Given the description of an element on the screen output the (x, y) to click on. 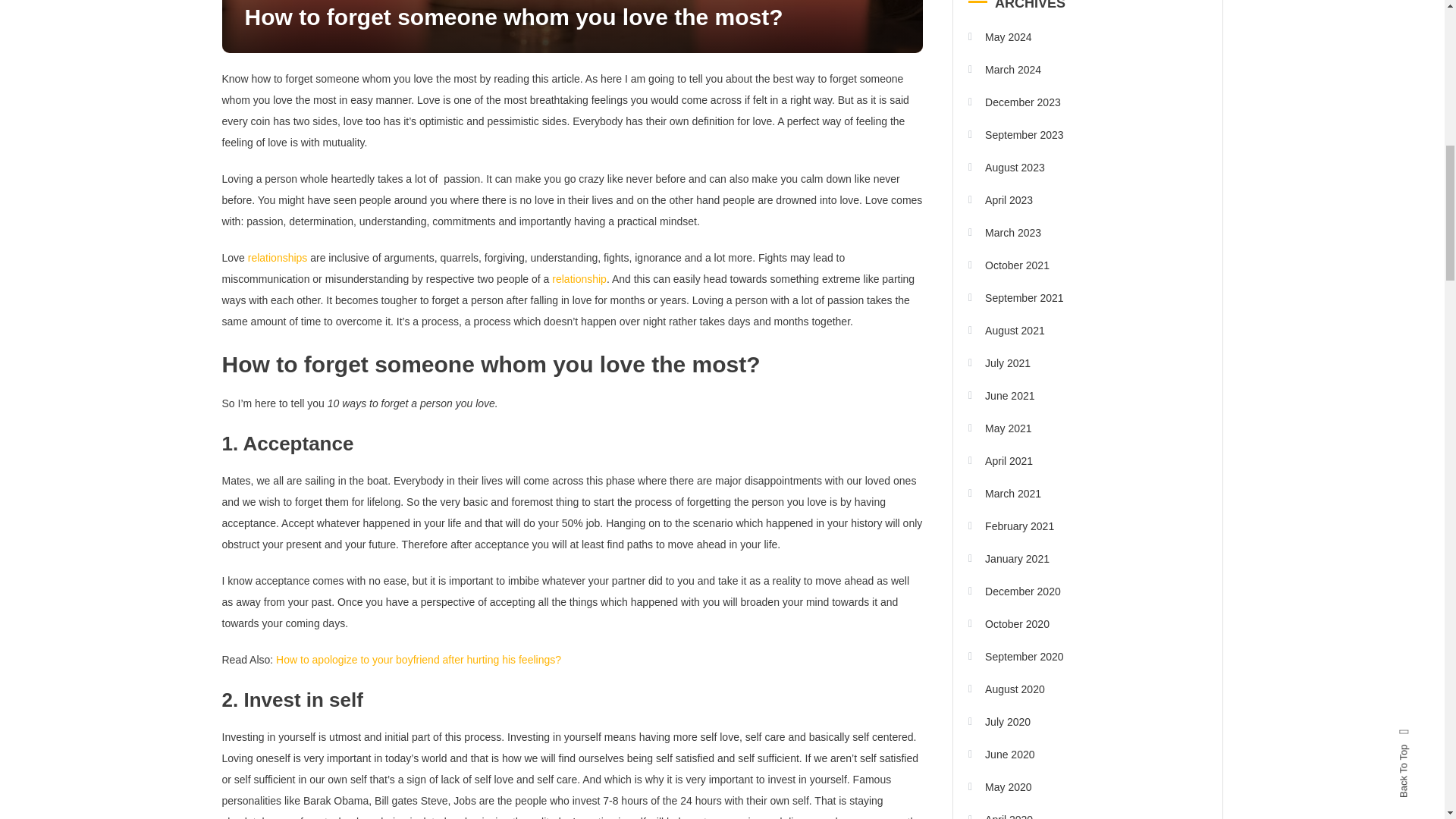
relationship (579, 278)
relationships (277, 257)
How to forget someone whom you love the most? (513, 16)
